Given the description of an element on the screen output the (x, y) to click on. 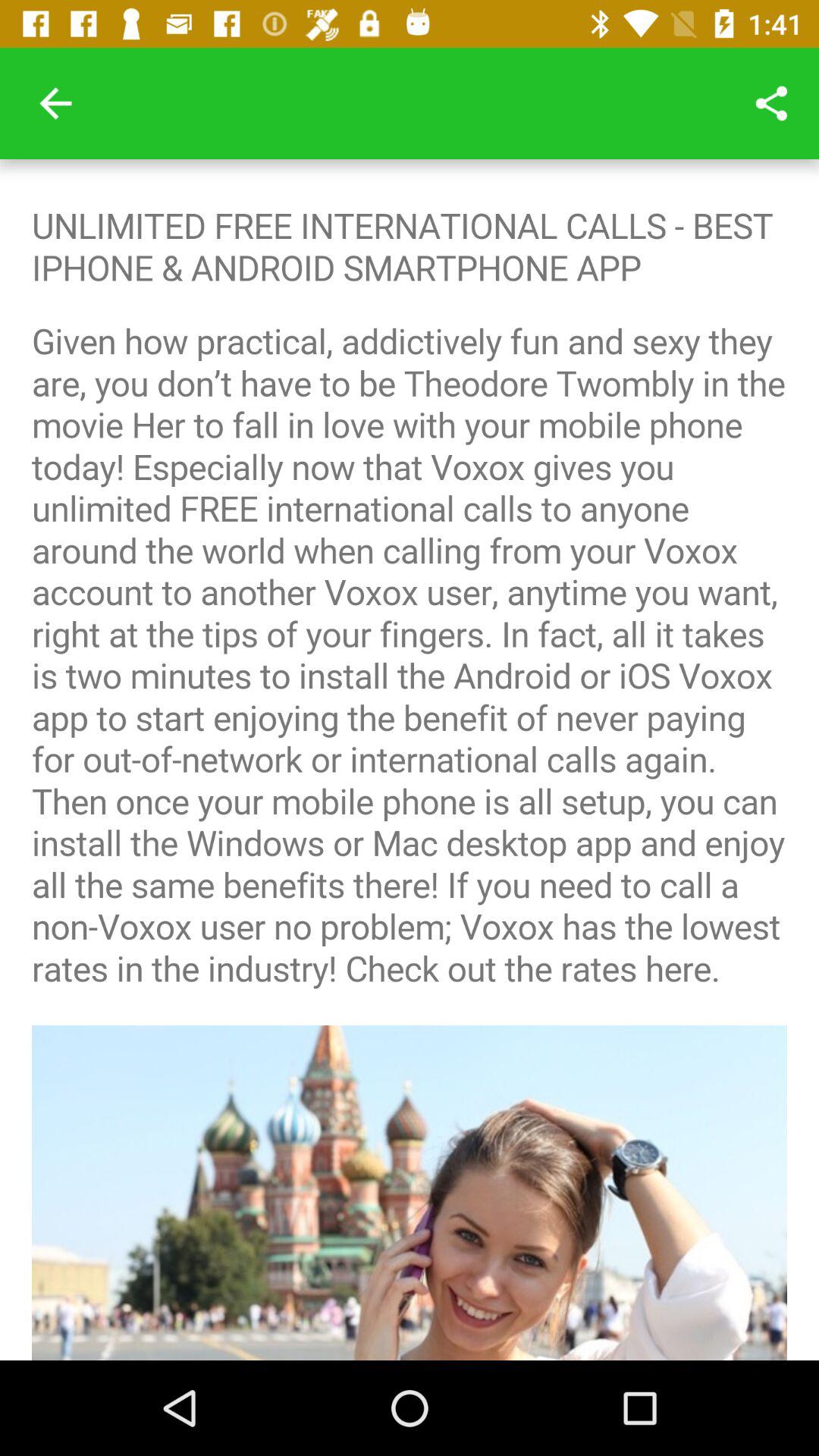
description (409, 759)
